Given the description of an element on the screen output the (x, y) to click on. 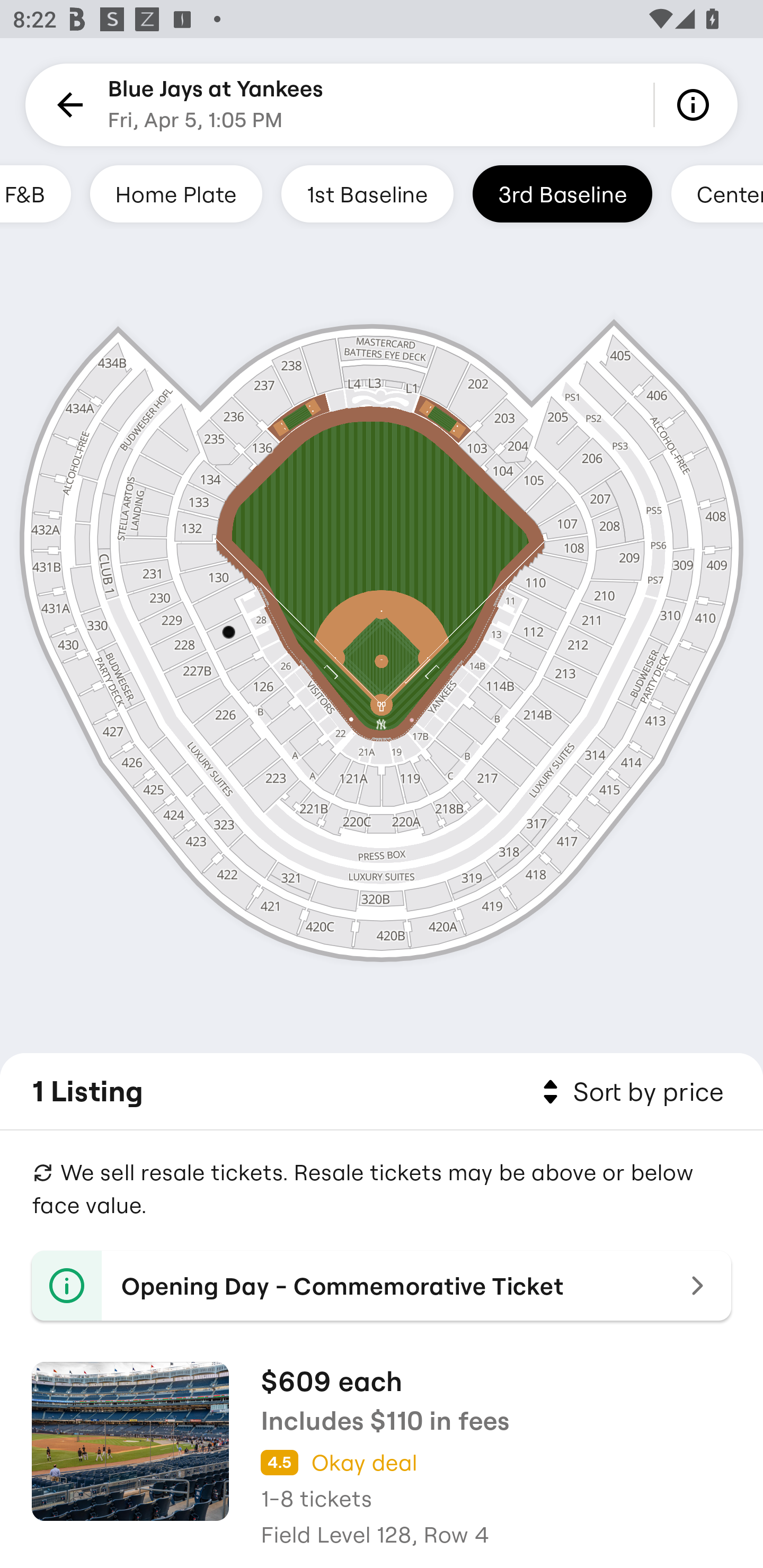
Back (66, 104)
Blue Jays at Yankees Fri, Apr 5, 1:05 PM (215, 104)
Info (695, 104)
Home Plate (176, 193)
1st Baseline (367, 193)
3rd Baseline (562, 193)
Sort by price (629, 1091)
Opening Day - Commemorative Ticket (381, 1285)
